Given the description of an element on the screen output the (x, y) to click on. 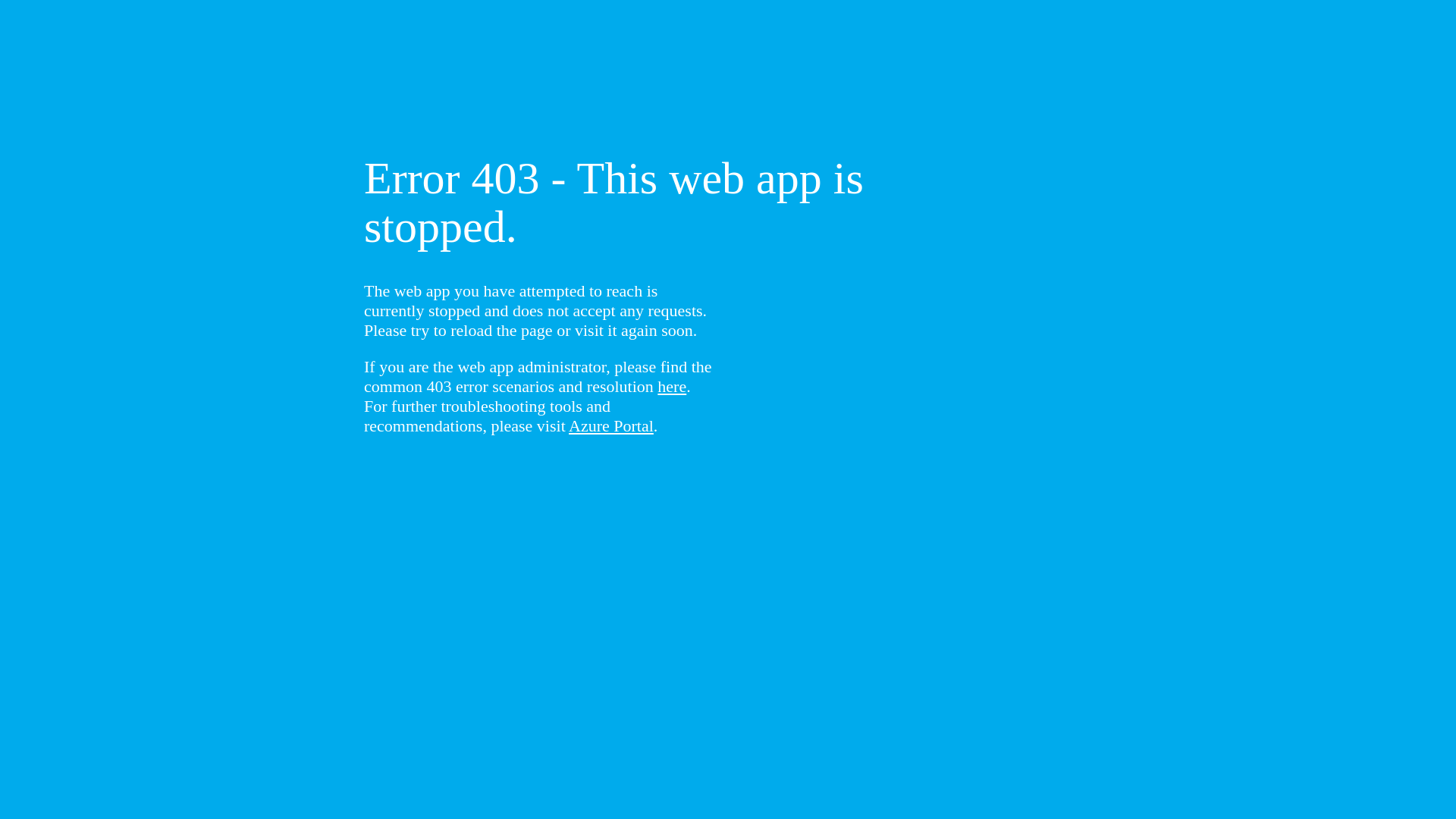
here Element type: text (671, 385)
Azure Portal Element type: text (610, 425)
